Given the description of an element on the screen output the (x, y) to click on. 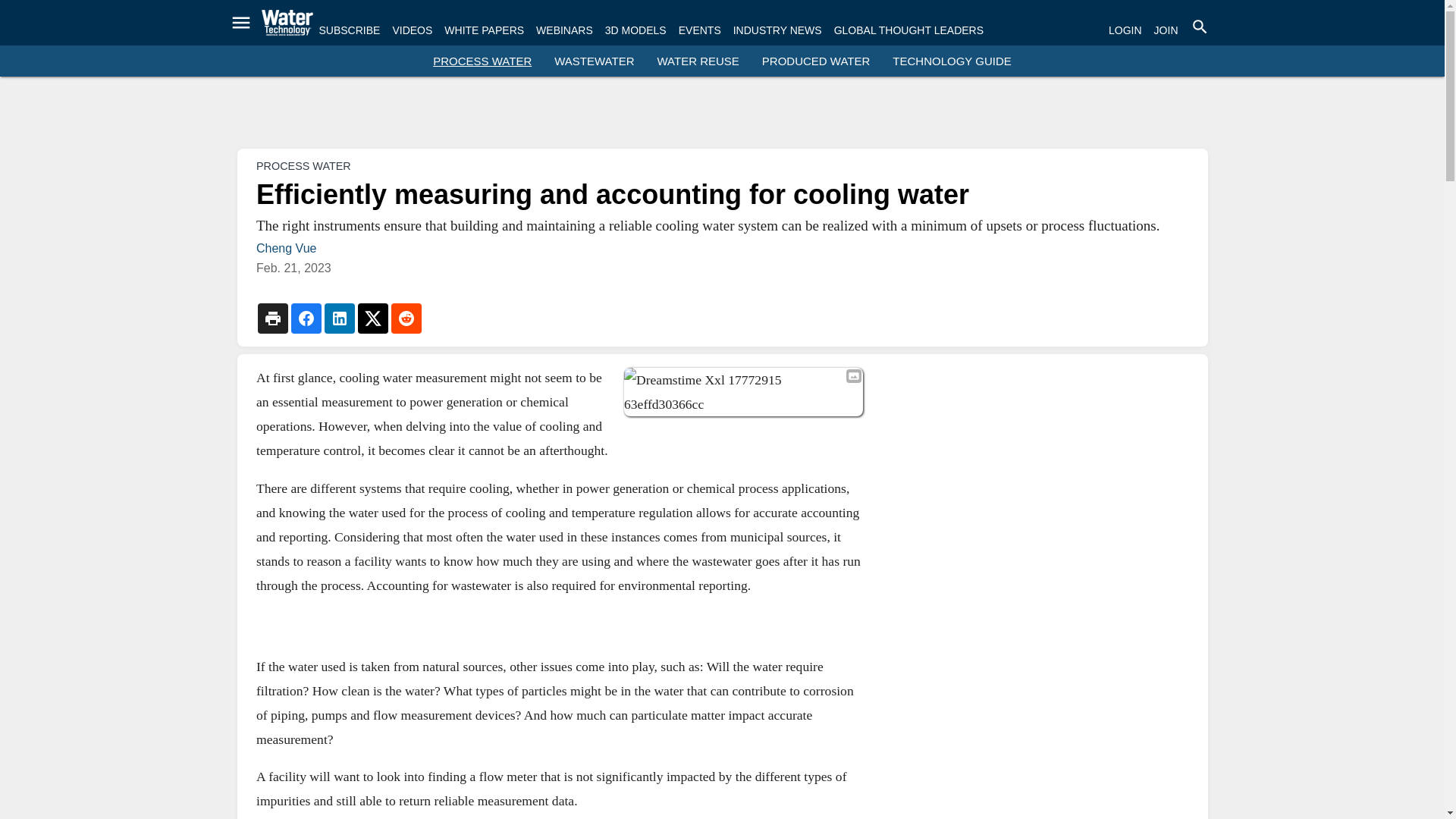
EVENTS (699, 30)
INDUSTRY NEWS (777, 30)
3D MODELS (635, 30)
WHITE PAPERS (484, 30)
Cheng Vue (285, 247)
JOIN (1165, 30)
LOGIN (1124, 30)
PROCESS WATER (303, 165)
GLOBAL THOUGHT LEADERS (909, 30)
PROCESS WATER (481, 60)
